Given the description of an element on the screen output the (x, y) to click on. 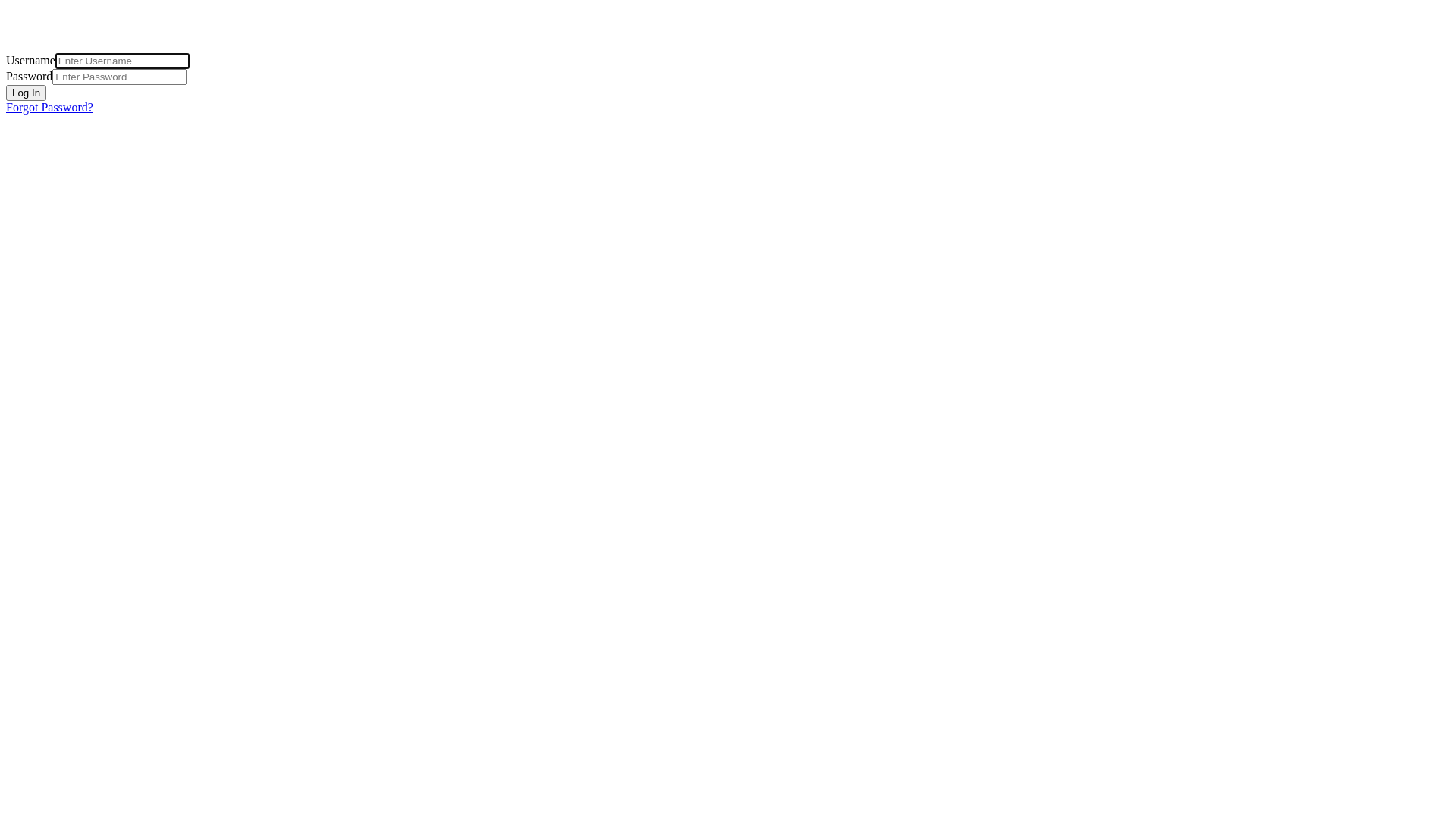
Log In Element type: text (26, 92)
Forgot Password? Element type: text (49, 106)
